Given the description of an element on the screen output the (x, y) to click on. 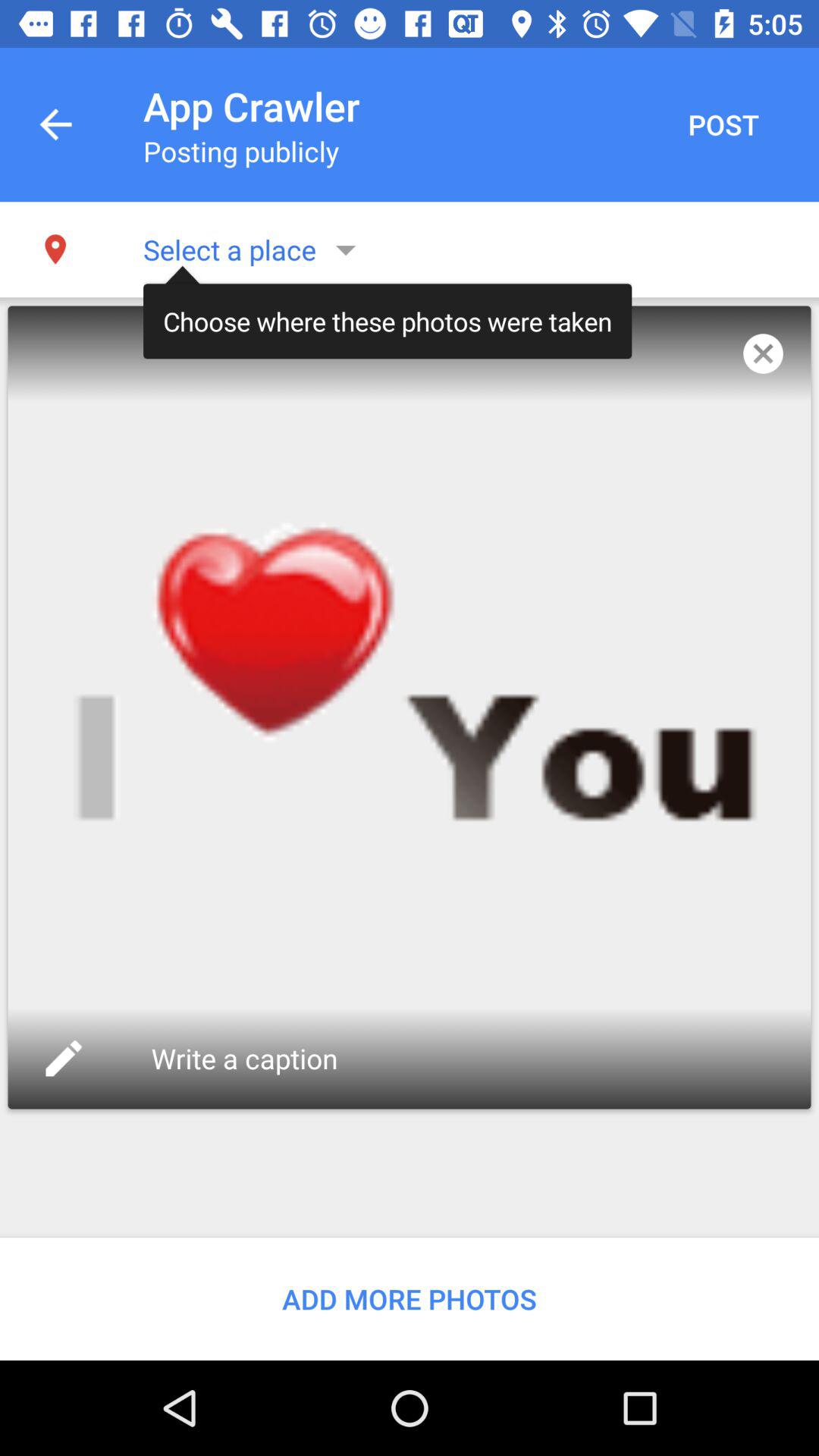
click the item to the left of the app crawler app (55, 124)
